Given the description of an element on the screen output the (x, y) to click on. 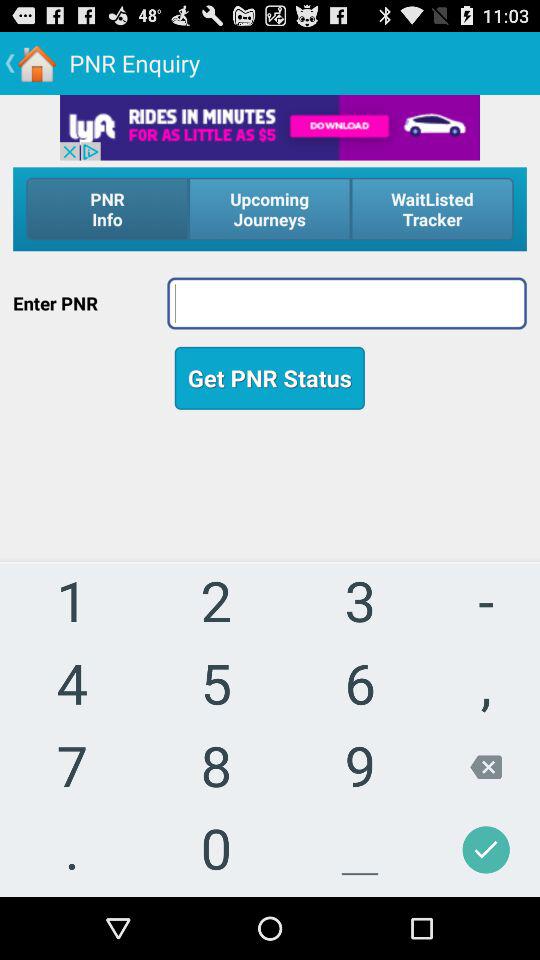
enter pnr (346, 303)
